Given the description of an element on the screen output the (x, y) to click on. 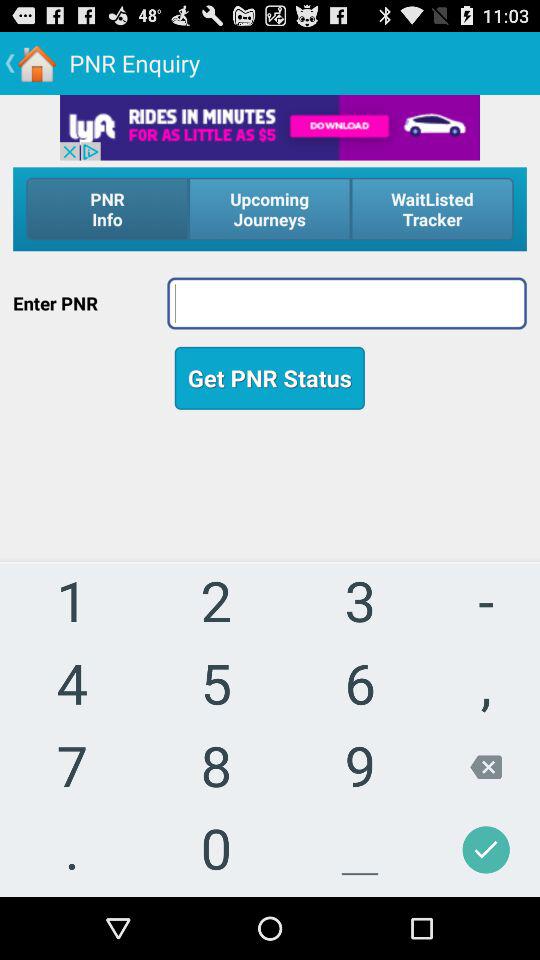
enter pnr (346, 303)
